Given the description of an element on the screen output the (x, y) to click on. 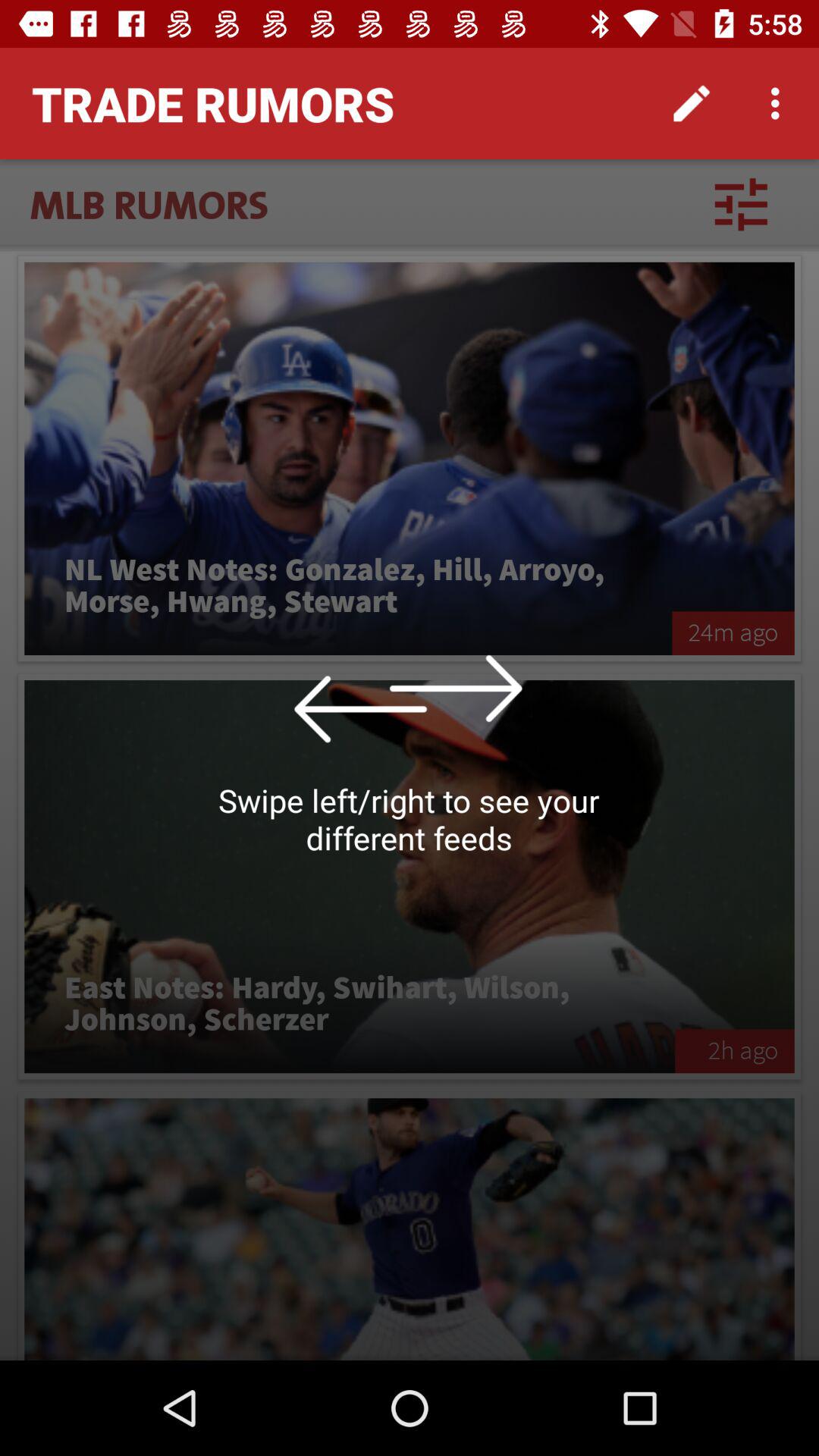
tap icon to the left of the 24m ago (348, 586)
